Given the description of an element on the screen output the (x, y) to click on. 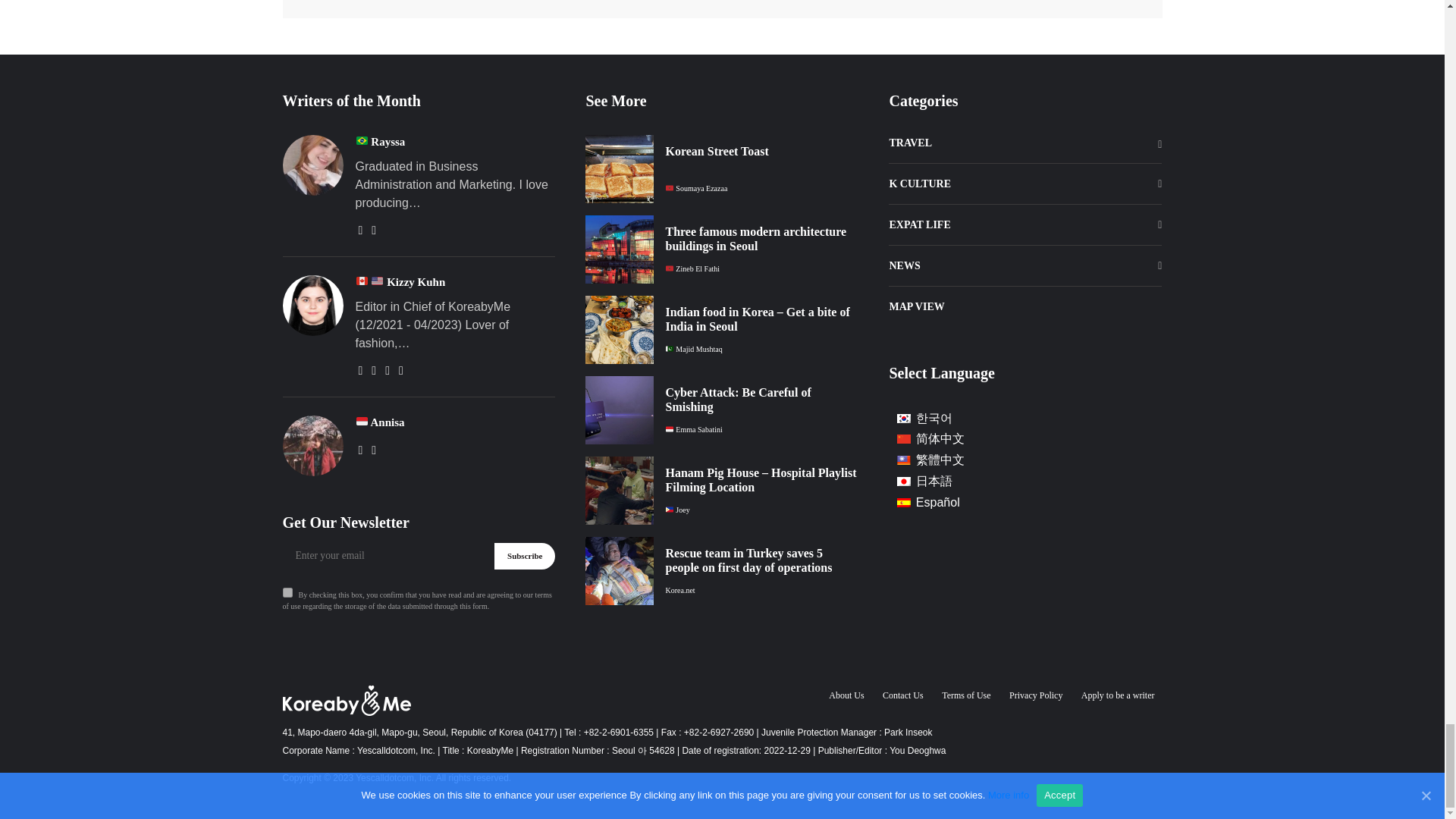
on (287, 592)
